Given the description of an element on the screen output the (x, y) to click on. 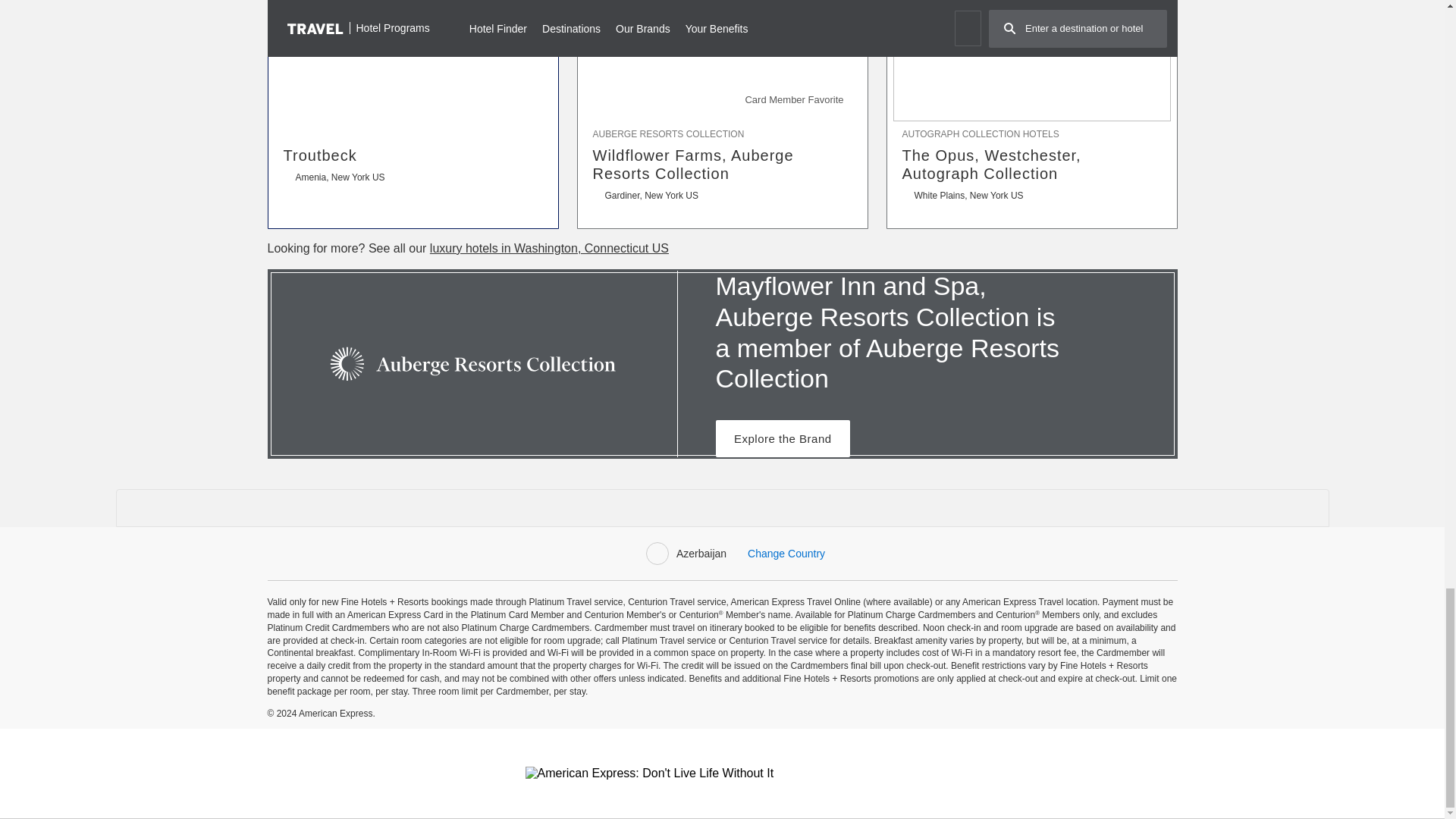
Change Country (786, 553)
Explore the Brand (783, 438)
Troutbeck (413, 155)
The Opus, Westchester, Autograph Collection (1031, 164)
luxury hotels in Washington, Connecticut US (548, 247)
Wildflower Farms, Auberge Resorts Collection (721, 164)
